Given the description of an element on the screen output the (x, y) to click on. 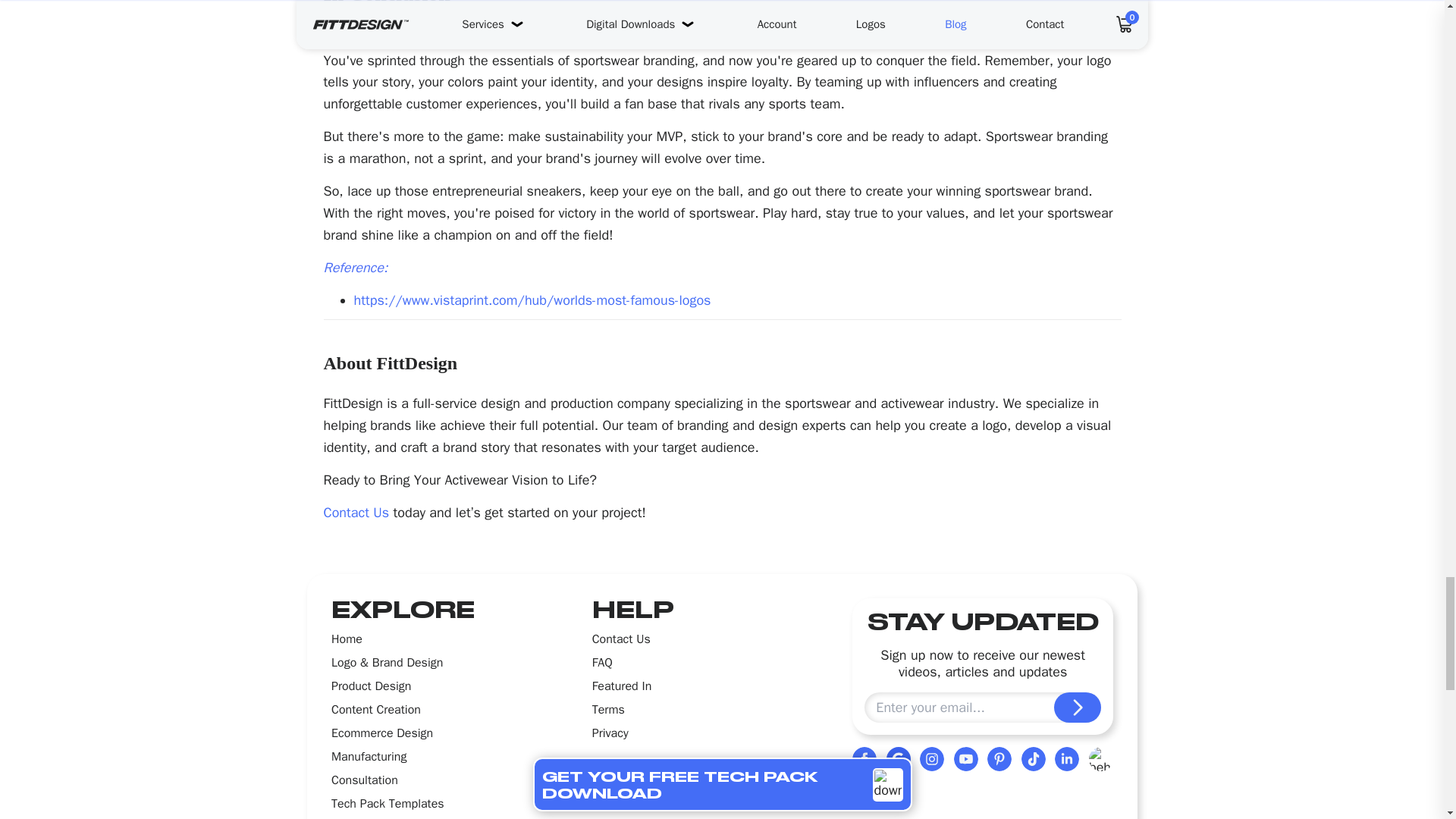
Consultation (364, 780)
Home (346, 638)
FAQ (602, 662)
Product Design (370, 686)
Contact Us (355, 512)
Tech Pack Templates (387, 803)
Ecommerce Design (381, 733)
Submit (1077, 707)
Terms (608, 709)
Featured In (622, 686)
